Given the description of an element on the screen output the (x, y) to click on. 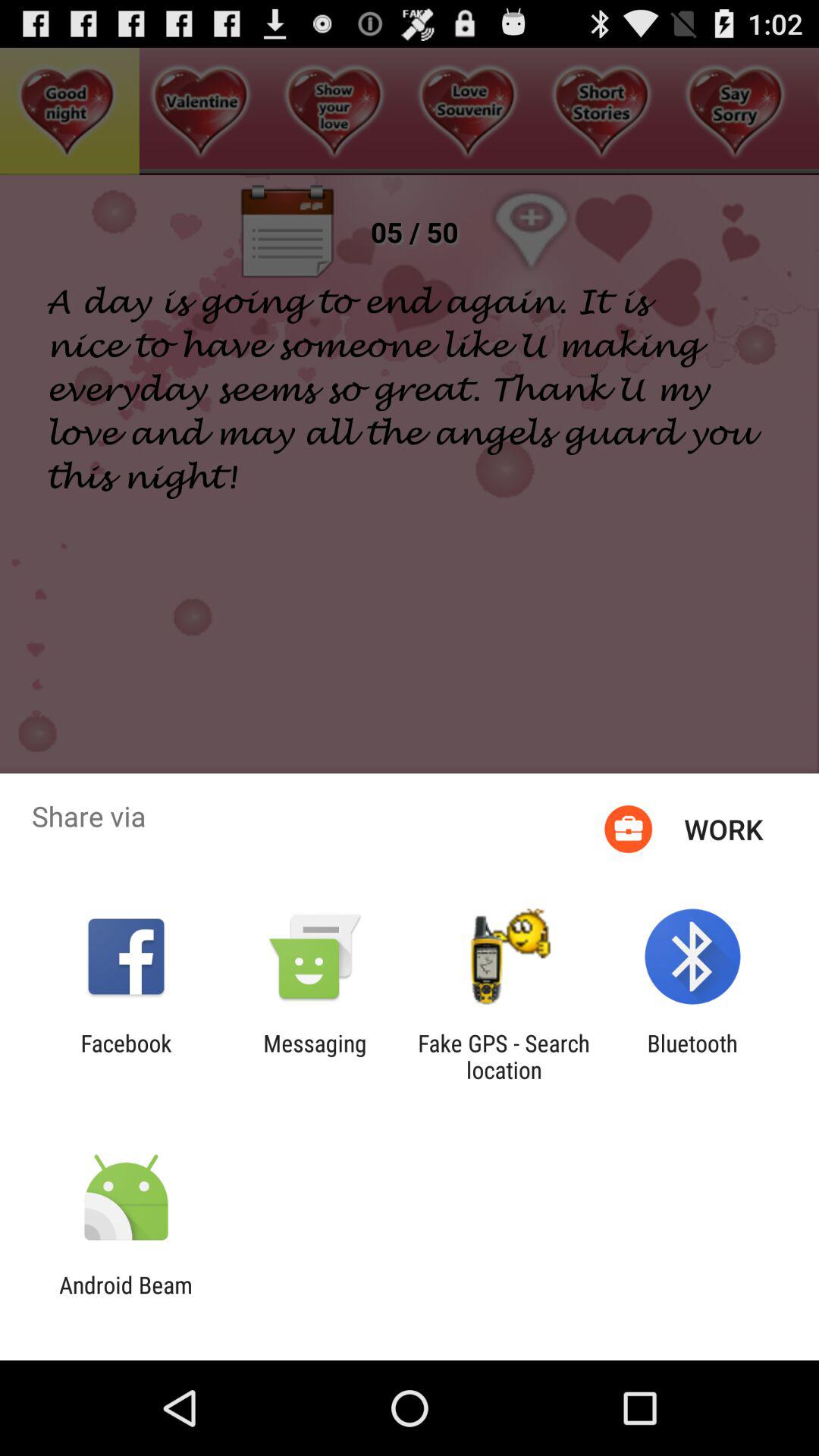
choose app to the left of bluetooth (503, 1056)
